Given the description of an element on the screen output the (x, y) to click on. 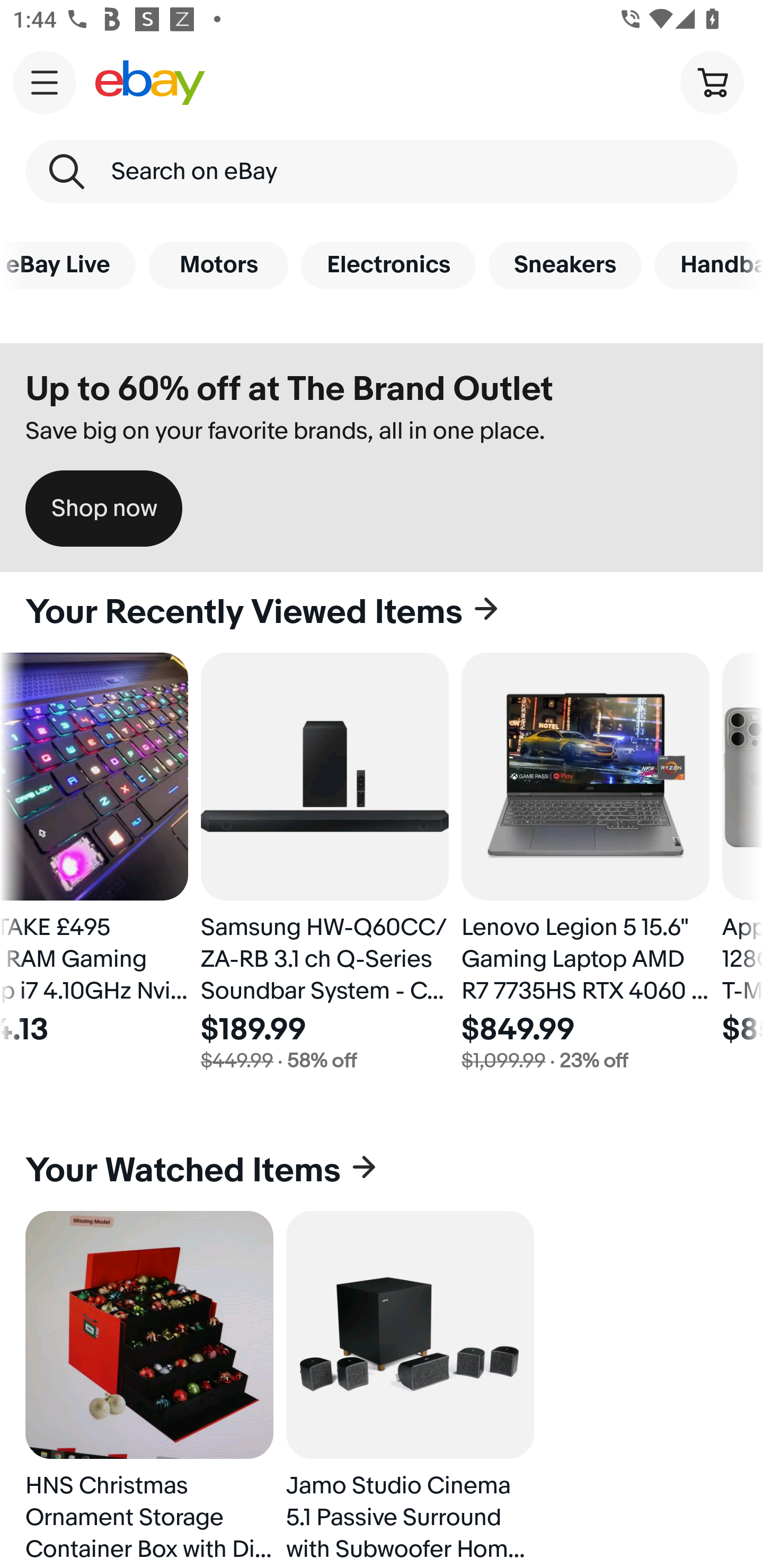
Main navigation, open (44, 82)
Cart button shopping cart (711, 81)
Search on eBay Search Keyword Search on eBay (381, 171)
eBay Live (67, 264)
Motors (218, 264)
Electronics (388, 264)
Sneakers (564, 264)
Up to 60% off at The Brand Outlet (289, 389)
Shop now (103, 508)
Your Recently Viewed Items   (381, 612)
Your Watched Items   (381, 1170)
